Given the description of an element on the screen output the (x, y) to click on. 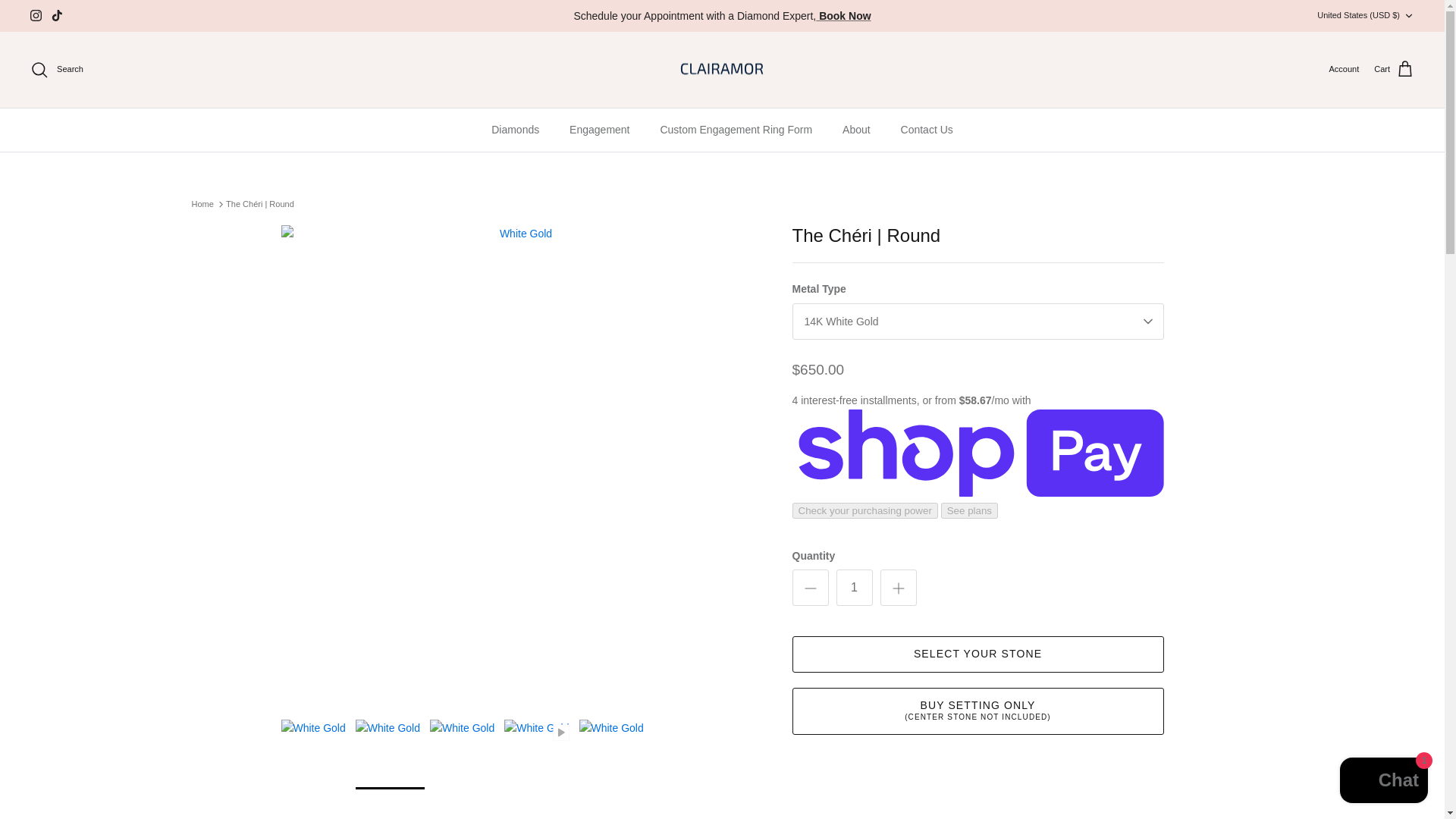
1 (853, 587)
Account (1342, 69)
Instagram (36, 15)
Instagram (36, 15)
Shopify online store chat (1383, 781)
Book Now (842, 15)
Search (56, 69)
CLAIRAMOR (721, 69)
Down (1408, 15)
